Given the description of an element on the screen output the (x, y) to click on. 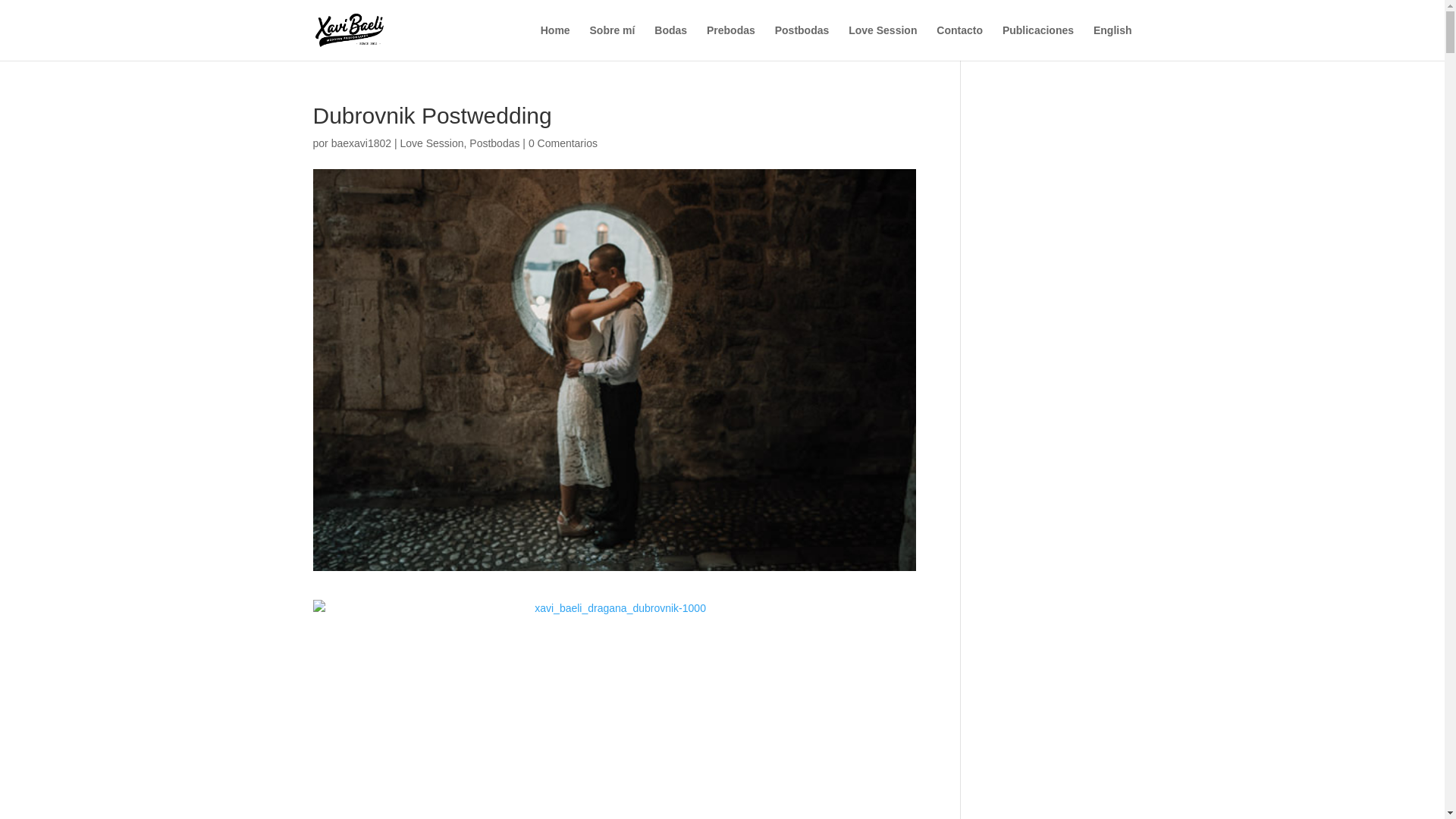
Love Session (882, 42)
Home (555, 42)
Postbodas (801, 42)
0 Comentarios (562, 143)
baexavi1802 (361, 143)
Prebodas (730, 42)
Bodas (670, 42)
Postbodas (493, 143)
Contacto (959, 42)
Love Session (430, 143)
Mensajes de baexavi1802 (361, 143)
English (1112, 42)
Publicaciones (1038, 42)
